Given the description of an element on the screen output the (x, y) to click on. 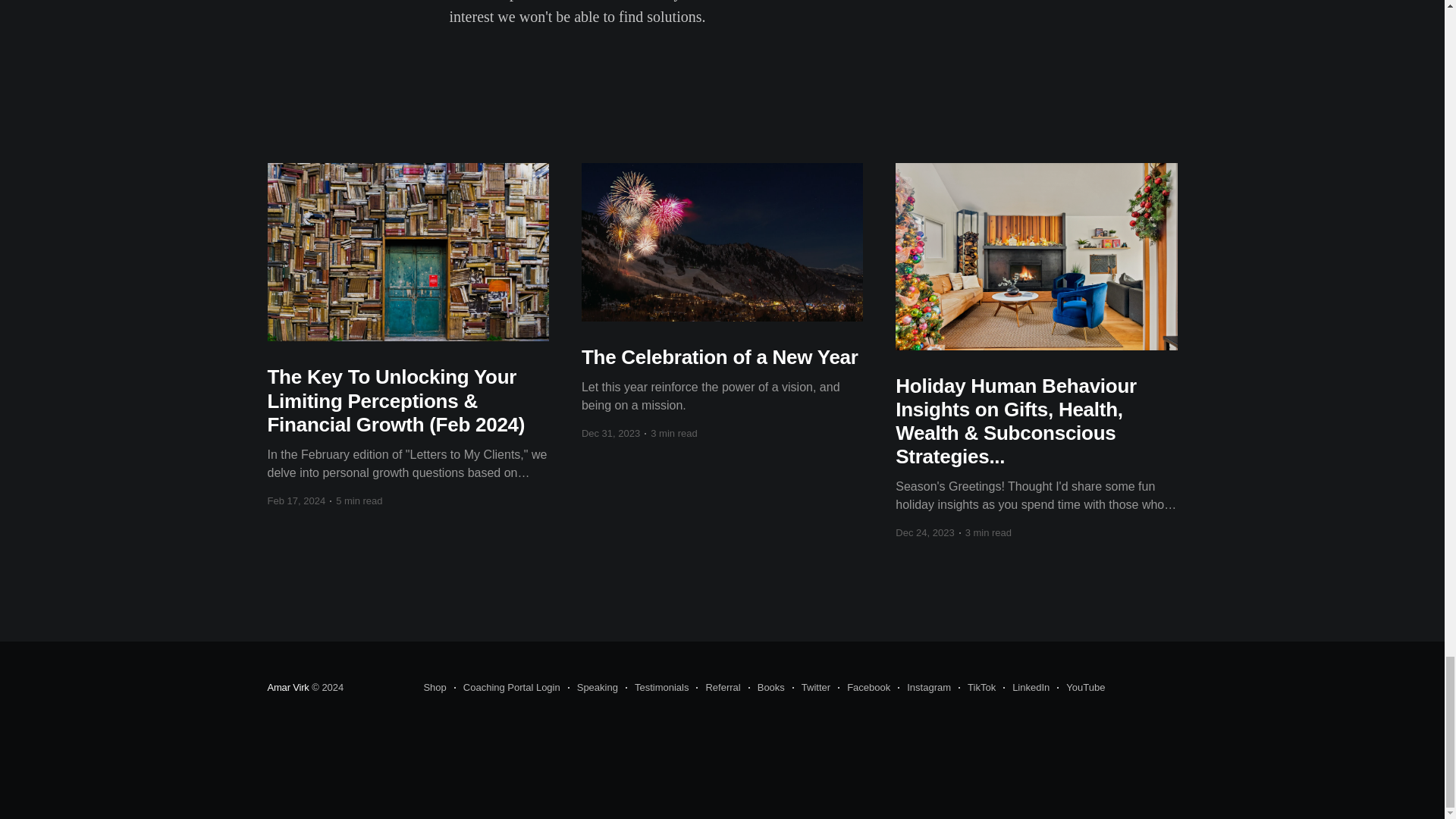
Testimonials (657, 687)
Coaching Portal Login (507, 687)
Referral (717, 687)
Twitter (810, 687)
Facebook (863, 687)
TikTok (976, 687)
YouTube (1081, 687)
LinkedIn (1026, 687)
Shop (434, 687)
Books (766, 687)
Instagram (924, 687)
Speaking (592, 687)
Amar Virk (287, 686)
